Given the description of an element on the screen output the (x, y) to click on. 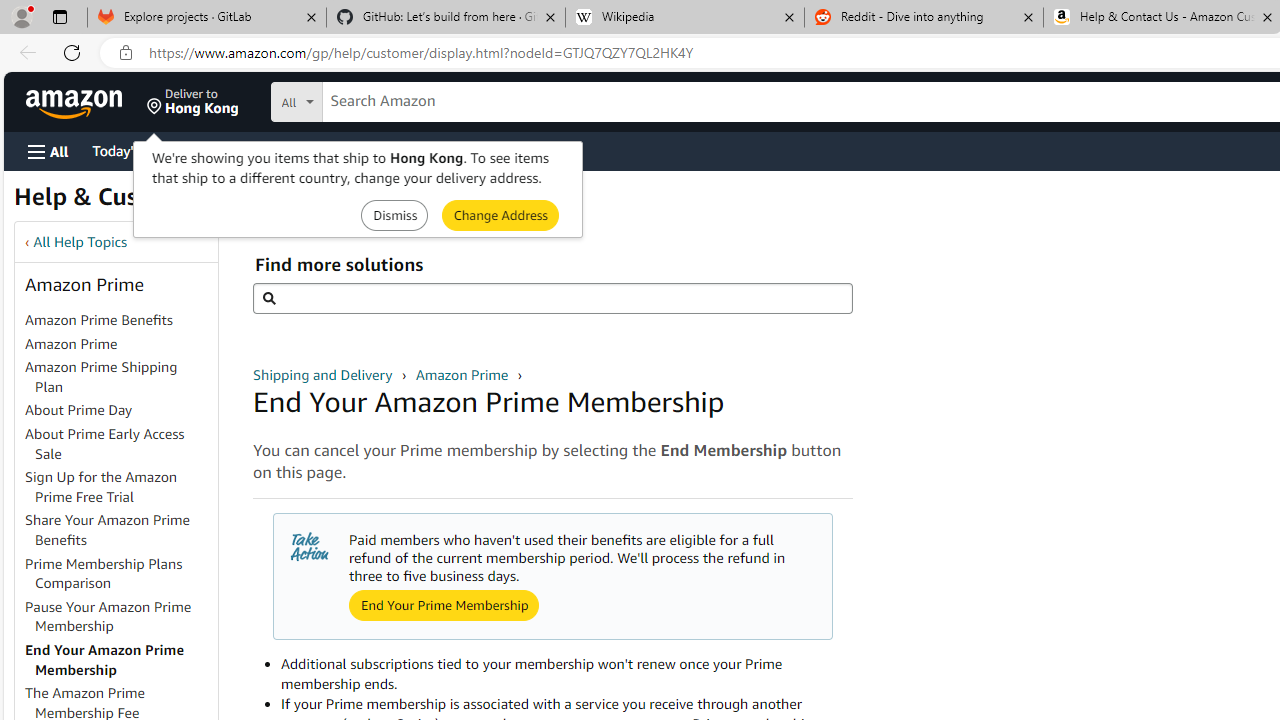
About Prime Day (79, 410)
Pause Your Amazon Prime Membership (120, 616)
